Given the description of an element on the screen output the (x, y) to click on. 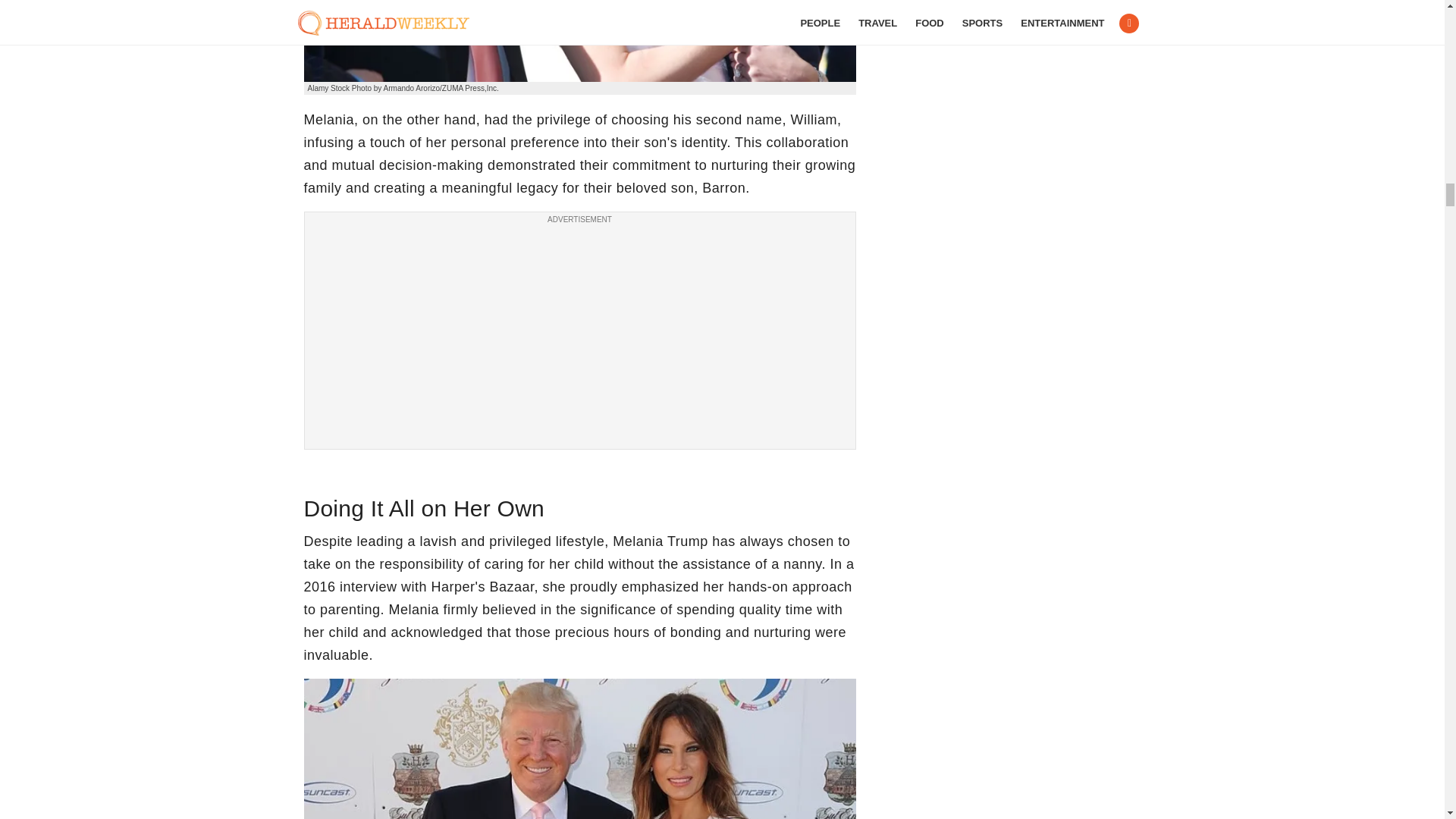
Doing It All on Her Own (579, 748)
Baby Mama (579, 40)
